Given the description of an element on the screen output the (x, y) to click on. 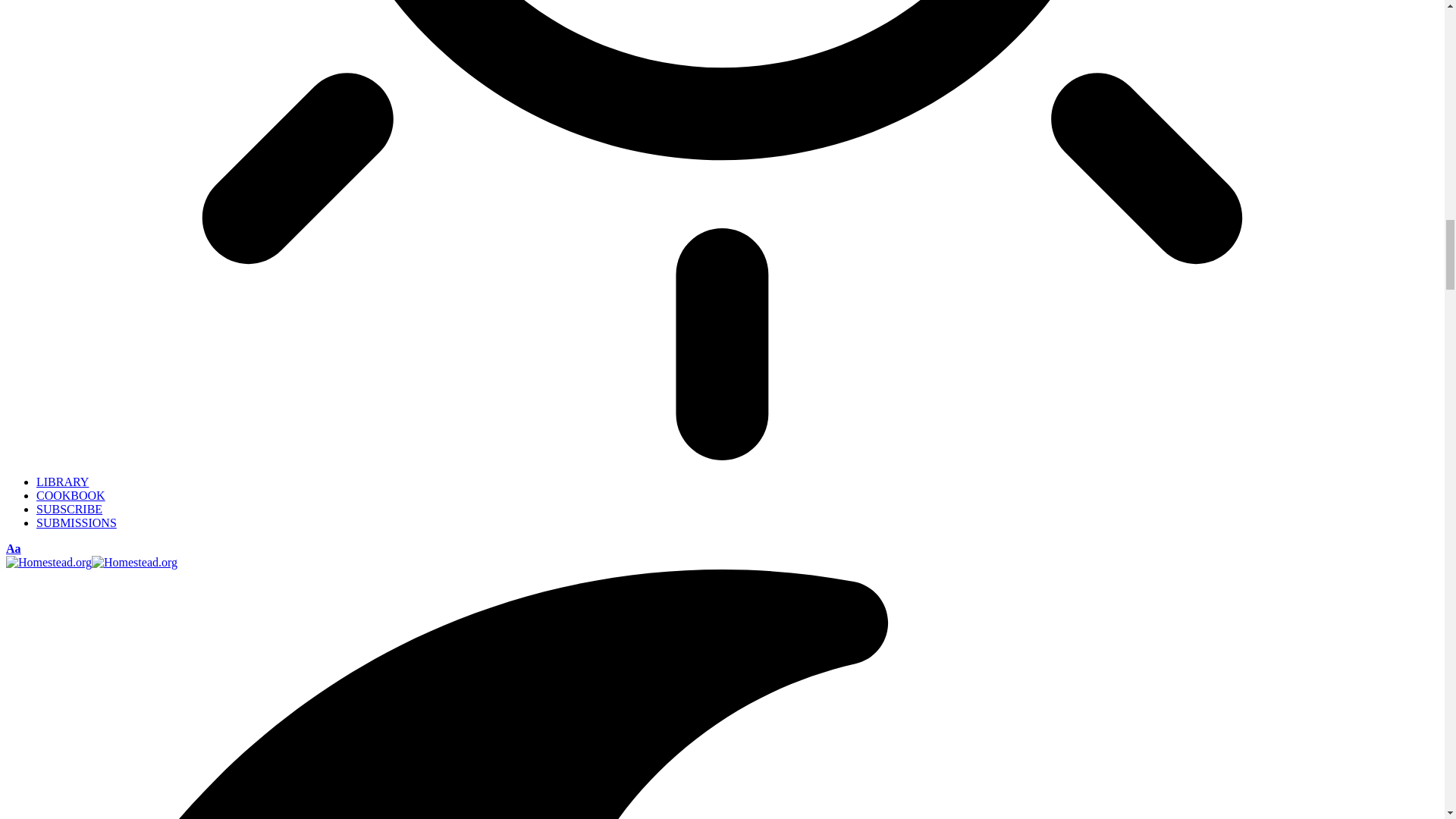
SUBSCRIBE (68, 508)
Homestead.org (91, 562)
COOKBOOK (70, 495)
LIBRARY (62, 481)
SUBMISSIONS (76, 522)
